Given the description of an element on the screen output the (x, y) to click on. 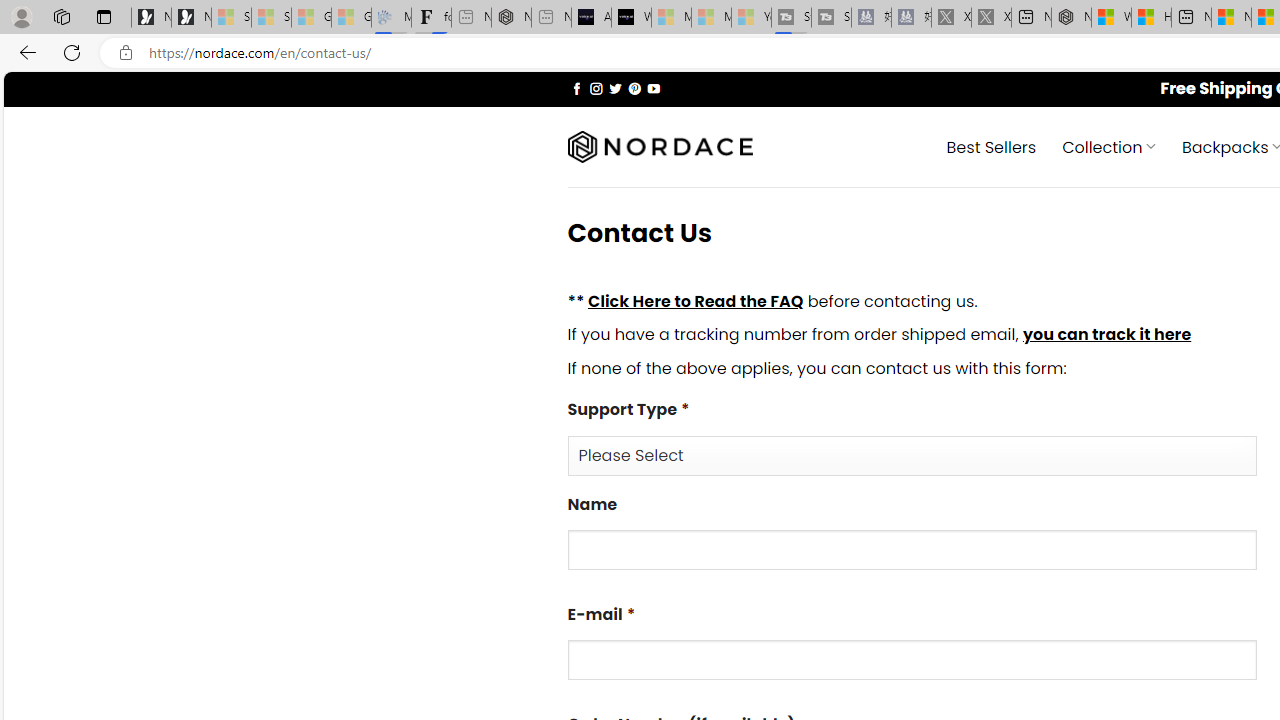
View site information (125, 53)
Follow on Pinterest (634, 88)
X - Sleeping (991, 17)
Newsletter Sign Up (191, 17)
Back (24, 52)
Nordace (659, 147)
Follow on Facebook (576, 88)
New tab - Sleeping (551, 17)
Nordace - #1 Japanese Best-Seller - Siena Smart Backpack (511, 17)
Click Here to Read the FAQ (695, 300)
